Given the description of an element on the screen output the (x, y) to click on. 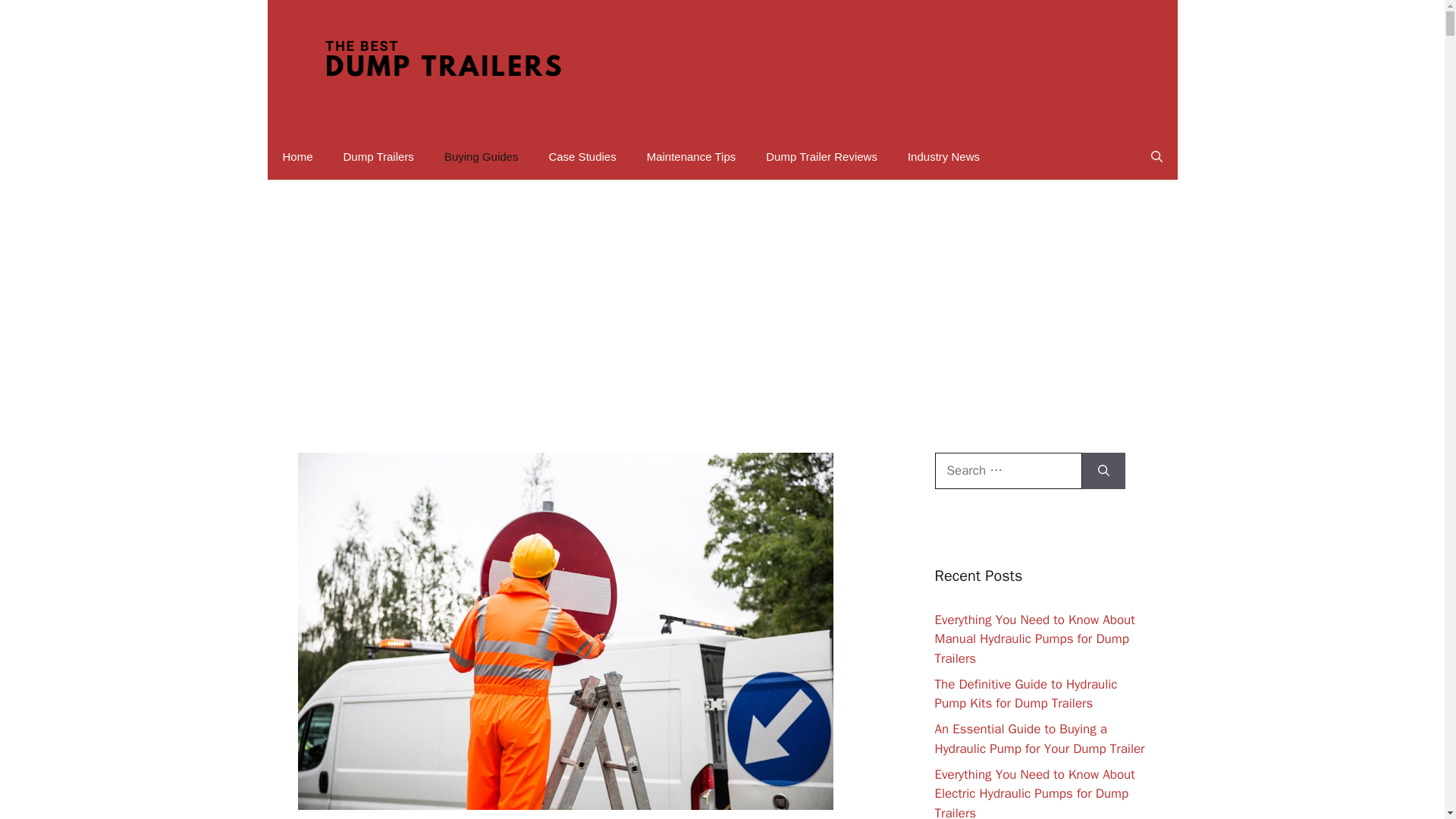
Industry News (943, 156)
Home (296, 156)
Case Studies (581, 156)
Dump Trailer Reviews (821, 156)
Maintenance Tips (691, 156)
Buying Guides (481, 156)
Dump Trailers (379, 156)
